Given the description of an element on the screen output the (x, y) to click on. 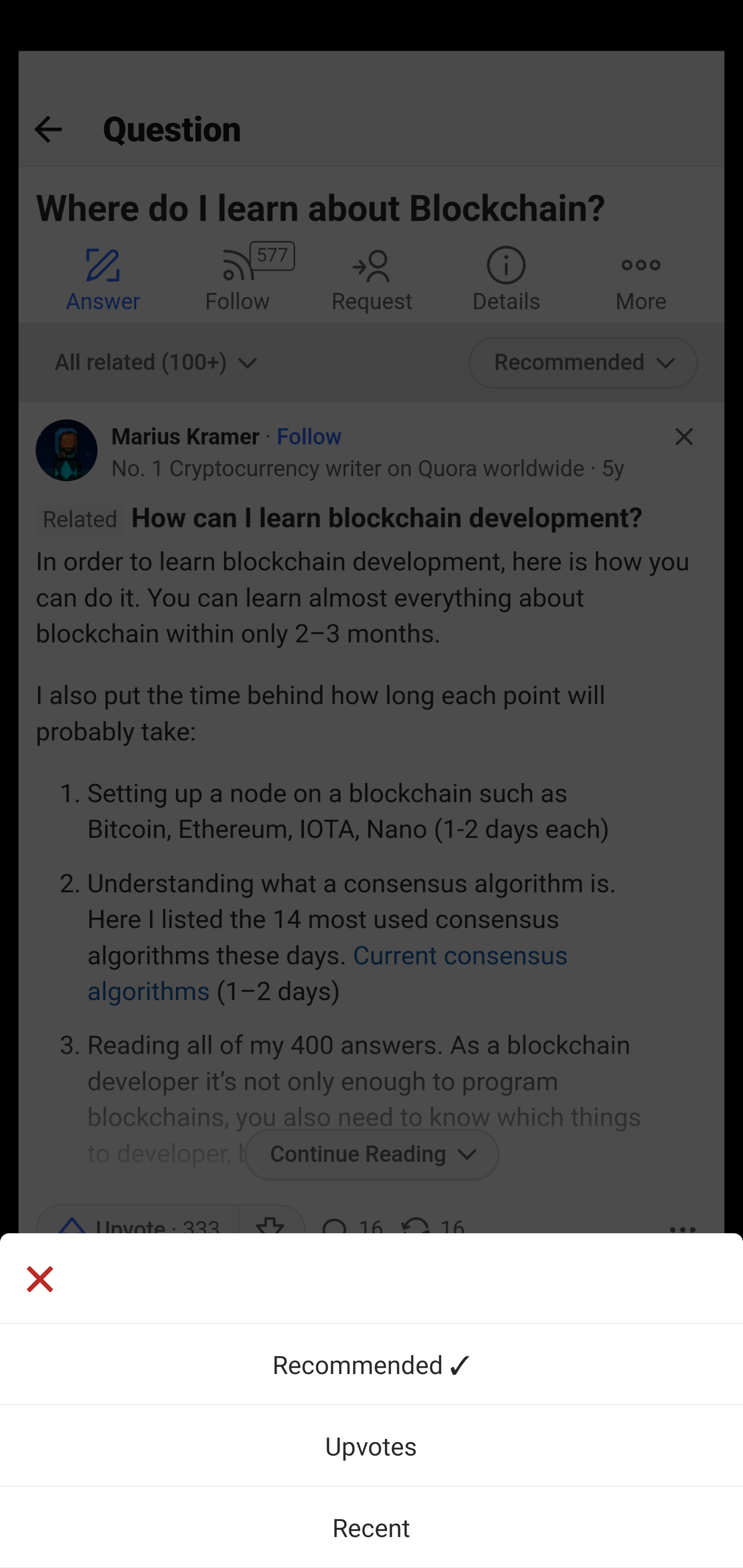
 (39, 1280)
Recommended ✓ (371, 1363)
Upvotes (371, 1445)
Recent (371, 1527)
